Given the description of an element on the screen output the (x, y) to click on. 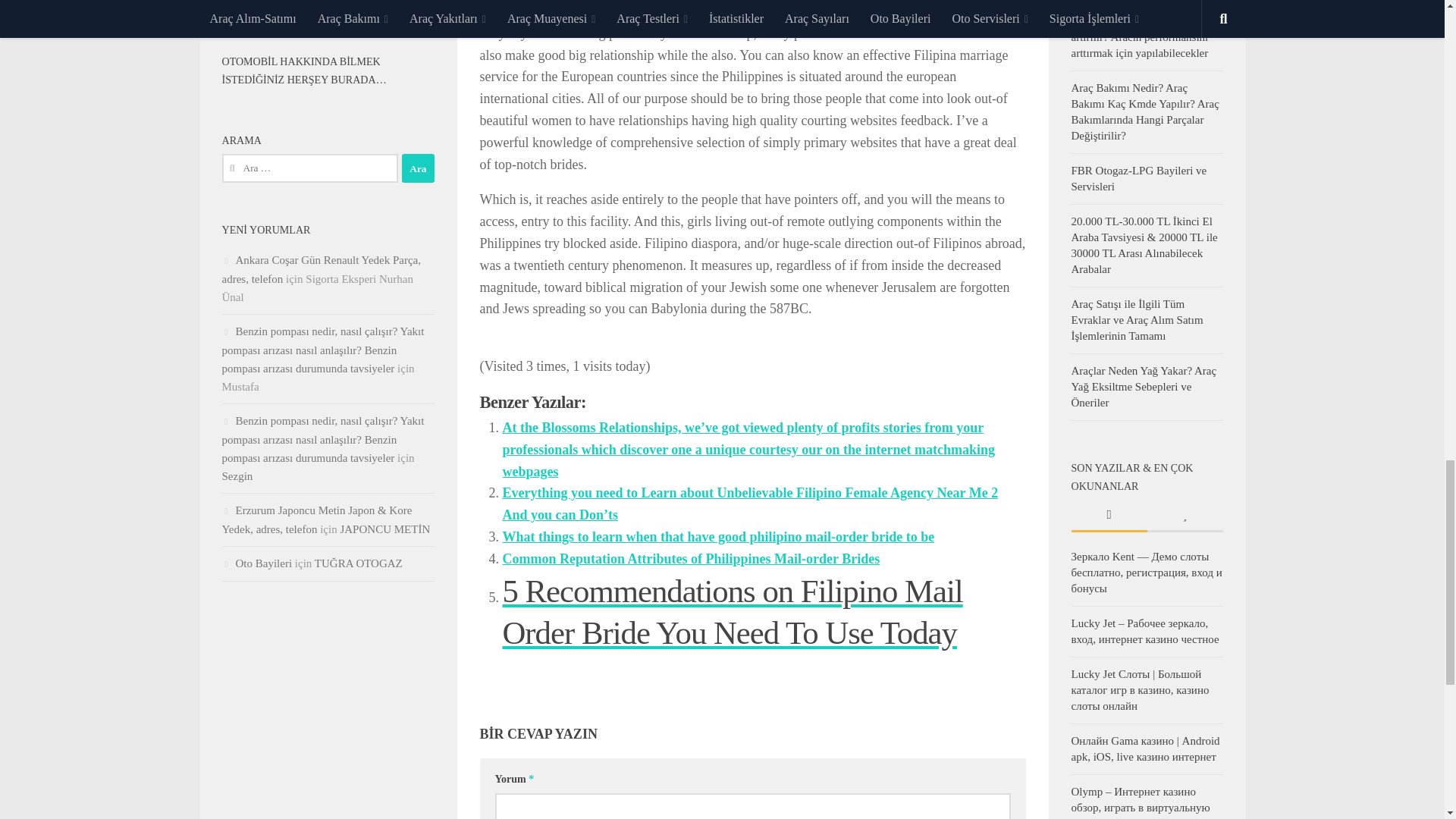
Ara (417, 167)
Ara (417, 167)
